Given the description of an element on the screen output the (x, y) to click on. 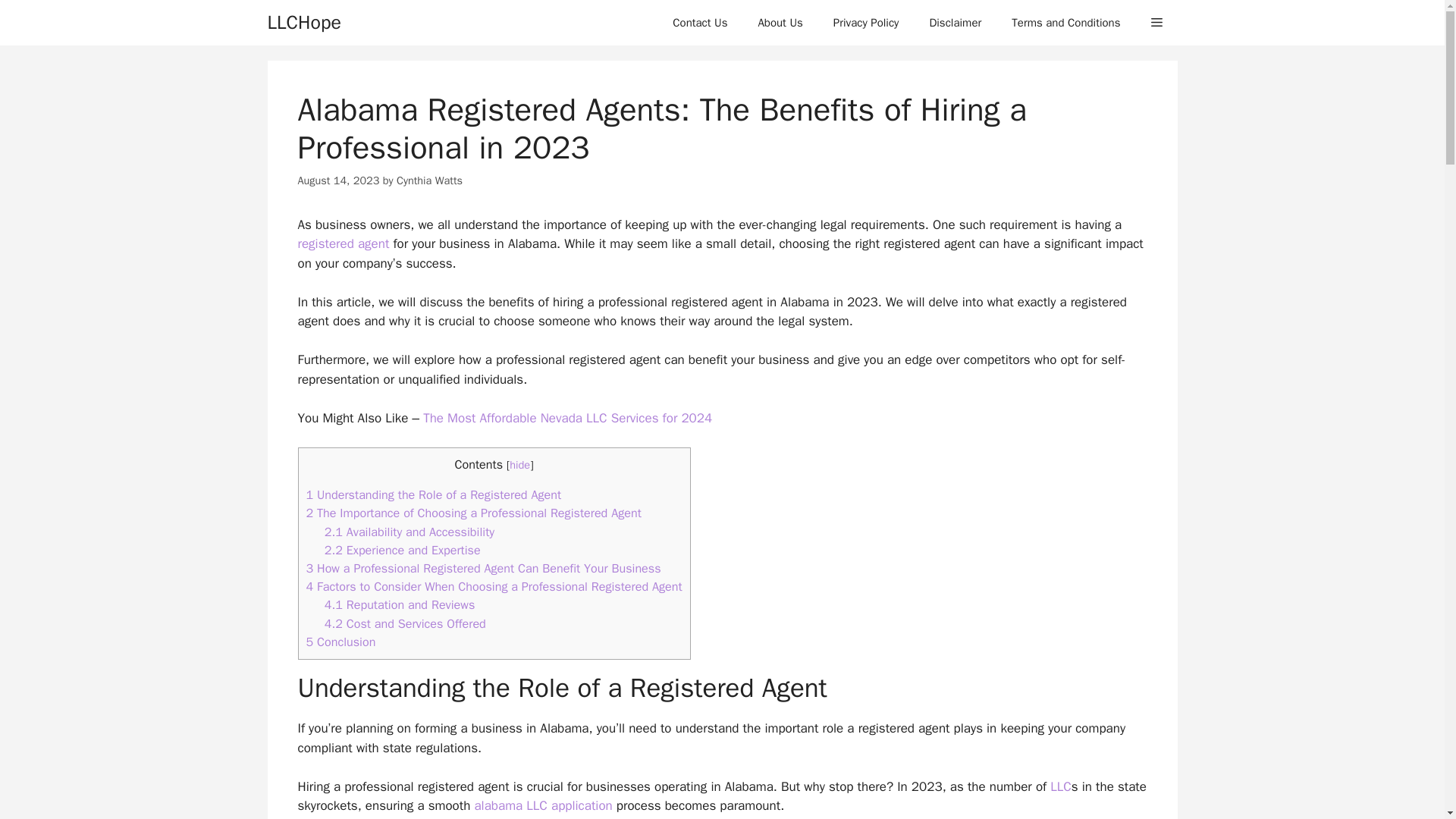
4.1 Reputation and Reviews (400, 604)
The Ultimate Guide to Making an LLC in 2023 (1060, 786)
LLCHope (303, 22)
2 The Importance of Choosing a Professional Registered Agent (473, 512)
The Ultimate Guide to Starting an Alabama LLC in 2024 (542, 805)
2.2 Experience and Expertise (402, 549)
5 Conclusion (340, 641)
Contact Us (700, 22)
alabama LLC application (542, 805)
registered agent (342, 243)
LLC (1060, 786)
Disclaimer (954, 22)
Cynthia Watts (429, 180)
Terms and Conditions (1065, 22)
